Given the description of an element on the screen output the (x, y) to click on. 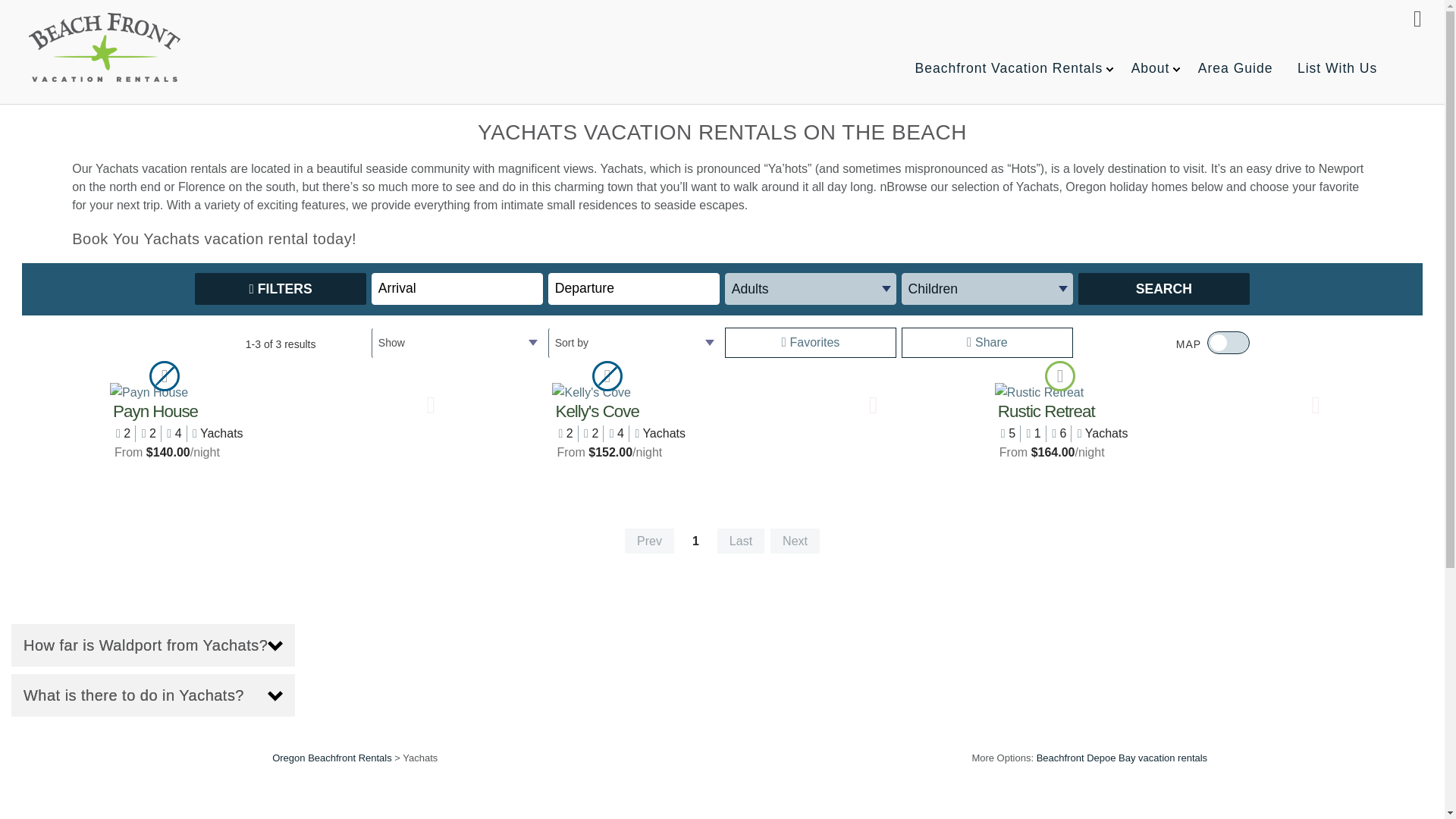
Favorite (1315, 404)
Favorite (430, 404)
Beachfront Vacation Rentals (1008, 68)
About (1150, 68)
Favorite (873, 404)
Search (1164, 288)
Beachfront Vacation Rentals (104, 47)
